Given the description of an element on the screen output the (x, y) to click on. 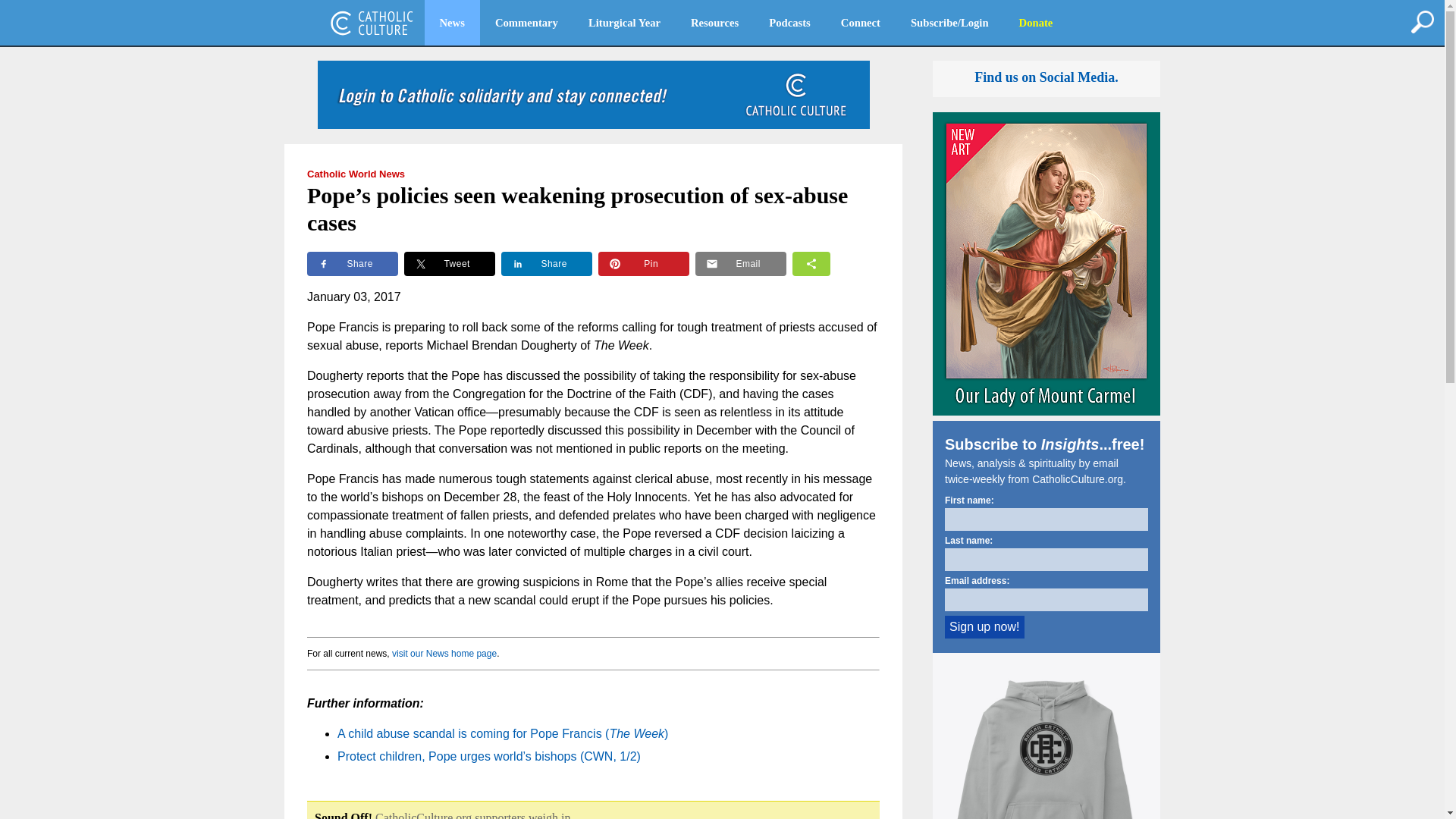
Sign up now! (984, 626)
News (452, 22)
Resources (714, 22)
CatholicCulture.org (371, 22)
Commentary (526, 22)
Liturgical Year (624, 22)
Podcasts (789, 22)
